Given the description of an element on the screen output the (x, y) to click on. 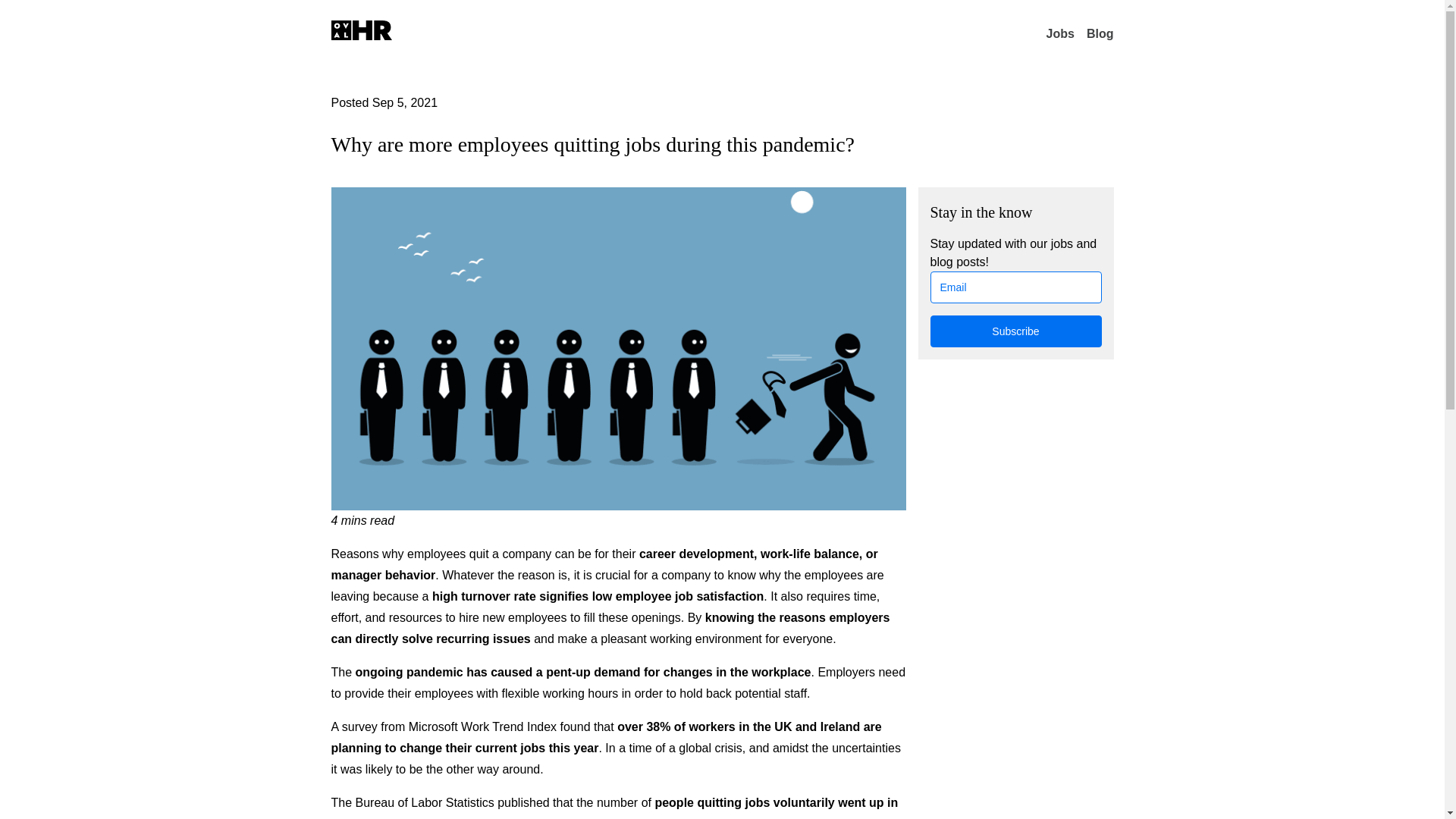
Subscribe (1015, 331)
Blog (1099, 33)
Jobs (1060, 33)
